Given the description of an element on the screen output the (x, y) to click on. 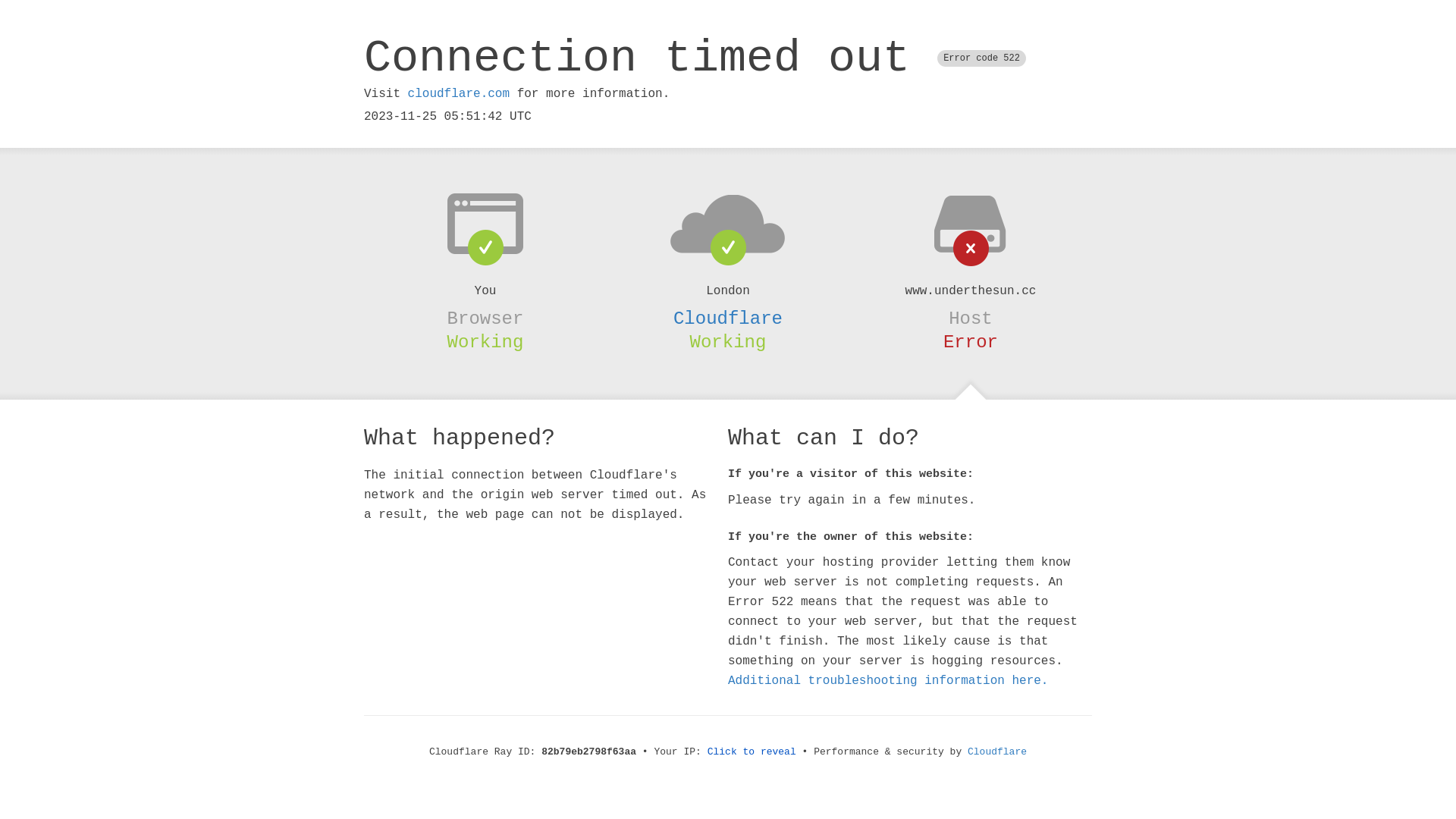
cloudflare.com Element type: text (458, 93)
Cloudflare Element type: text (996, 751)
Additional troubleshooting information here. Element type: text (888, 680)
Click to reveal Element type: text (751, 751)
Cloudflare Element type: text (727, 318)
